Given the description of an element on the screen output the (x, y) to click on. 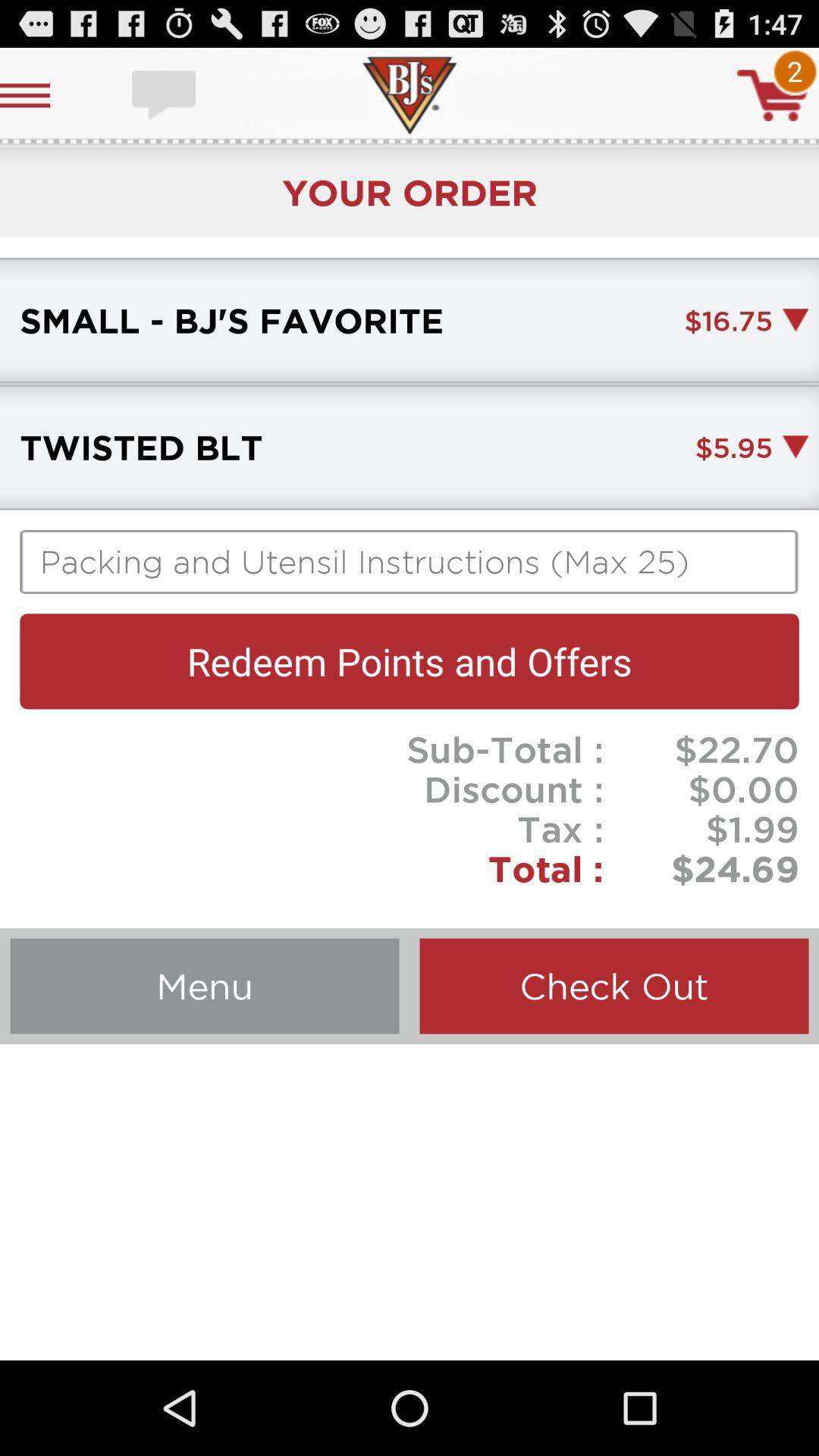
view cart (772, 95)
